Given the description of an element on the screen output the (x, y) to click on. 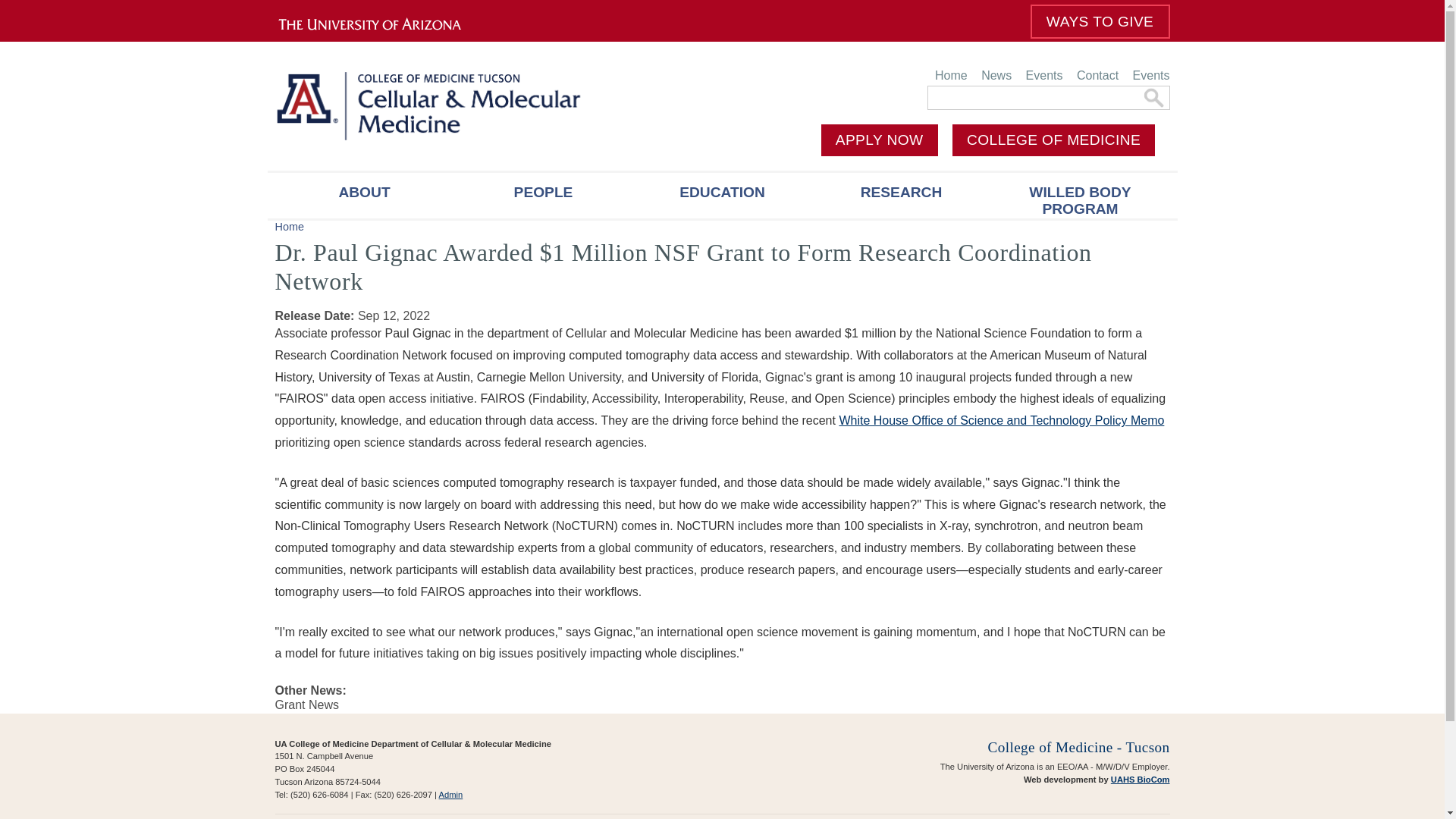
PEOPLE (541, 195)
News (995, 74)
RESEARCH (900, 195)
Contact (1097, 74)
EDUCATION (720, 195)
Home (951, 74)
APPLY NOW (879, 140)
WAYS TO GIVE (1100, 20)
Events (1148, 74)
Skip to main content (685, 1)
ABOUT (363, 195)
The University of Arizona (378, 24)
Events (1044, 74)
COLLEGE OF MEDICINE (1053, 140)
